Given the description of an element on the screen output the (x, y) to click on. 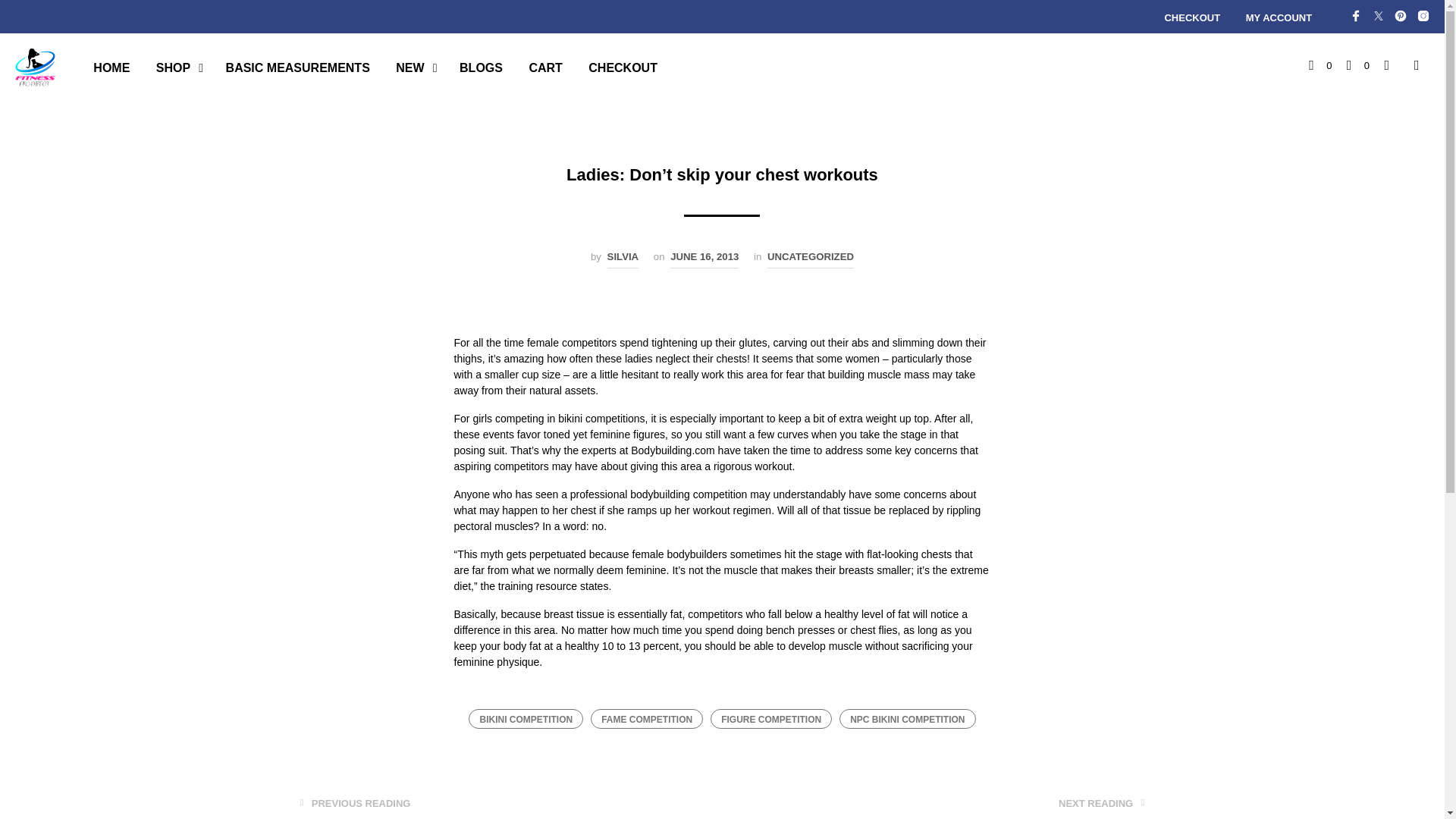
SHOP (173, 67)
MY ACCOUNT (1278, 17)
View all posts by silvia (623, 258)
NEW (409, 67)
HOME (111, 67)
BASIC MEASUREMENTS (297, 67)
CHECKOUT (1192, 17)
